Given the description of an element on the screen output the (x, y) to click on. 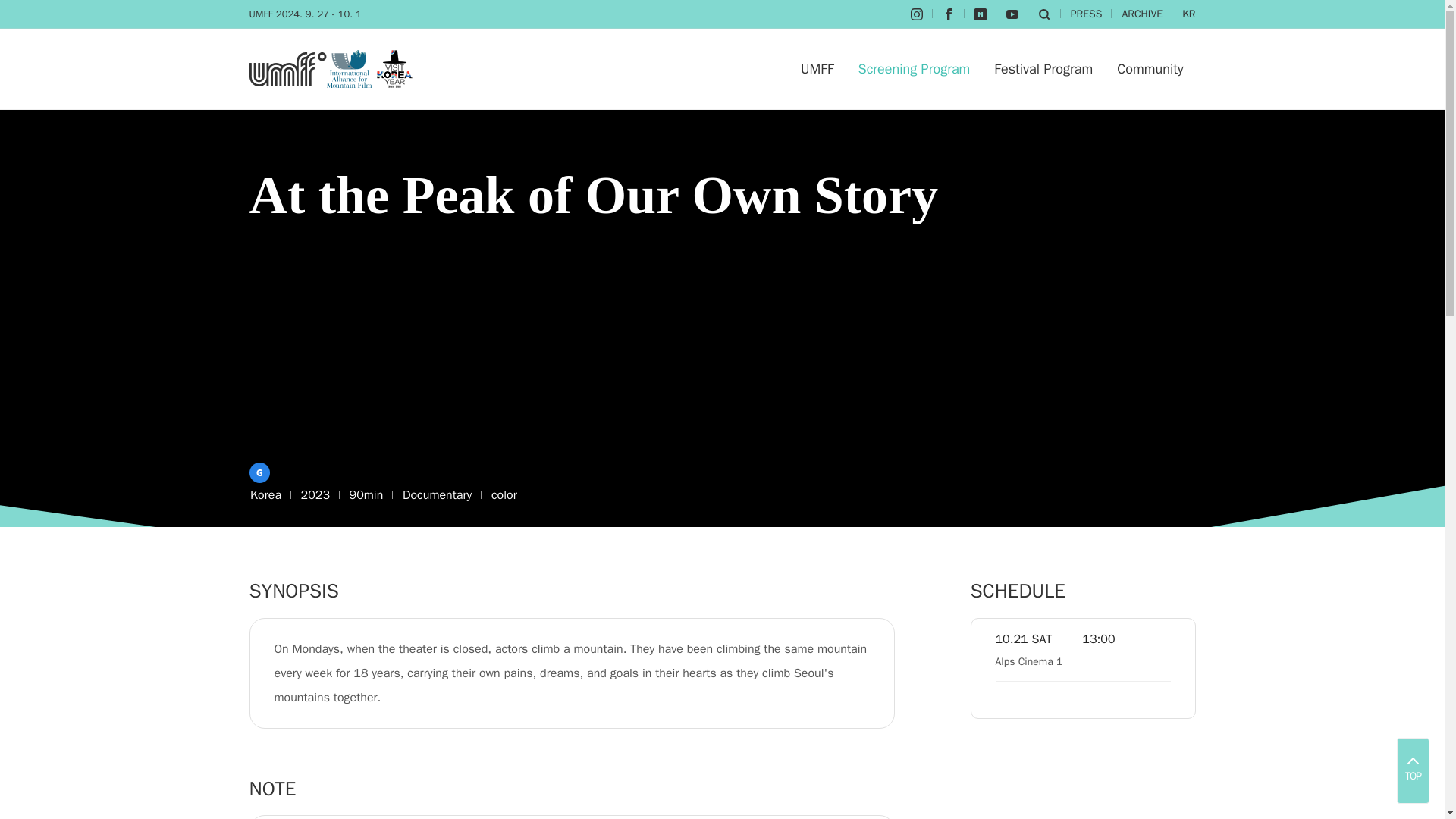
UMFF (817, 68)
Festival Program (1043, 68)
ARCHIVE (1141, 13)
Screening Program (915, 68)
KR (1188, 13)
PRESS (1086, 13)
